Given the description of an element on the screen output the (x, y) to click on. 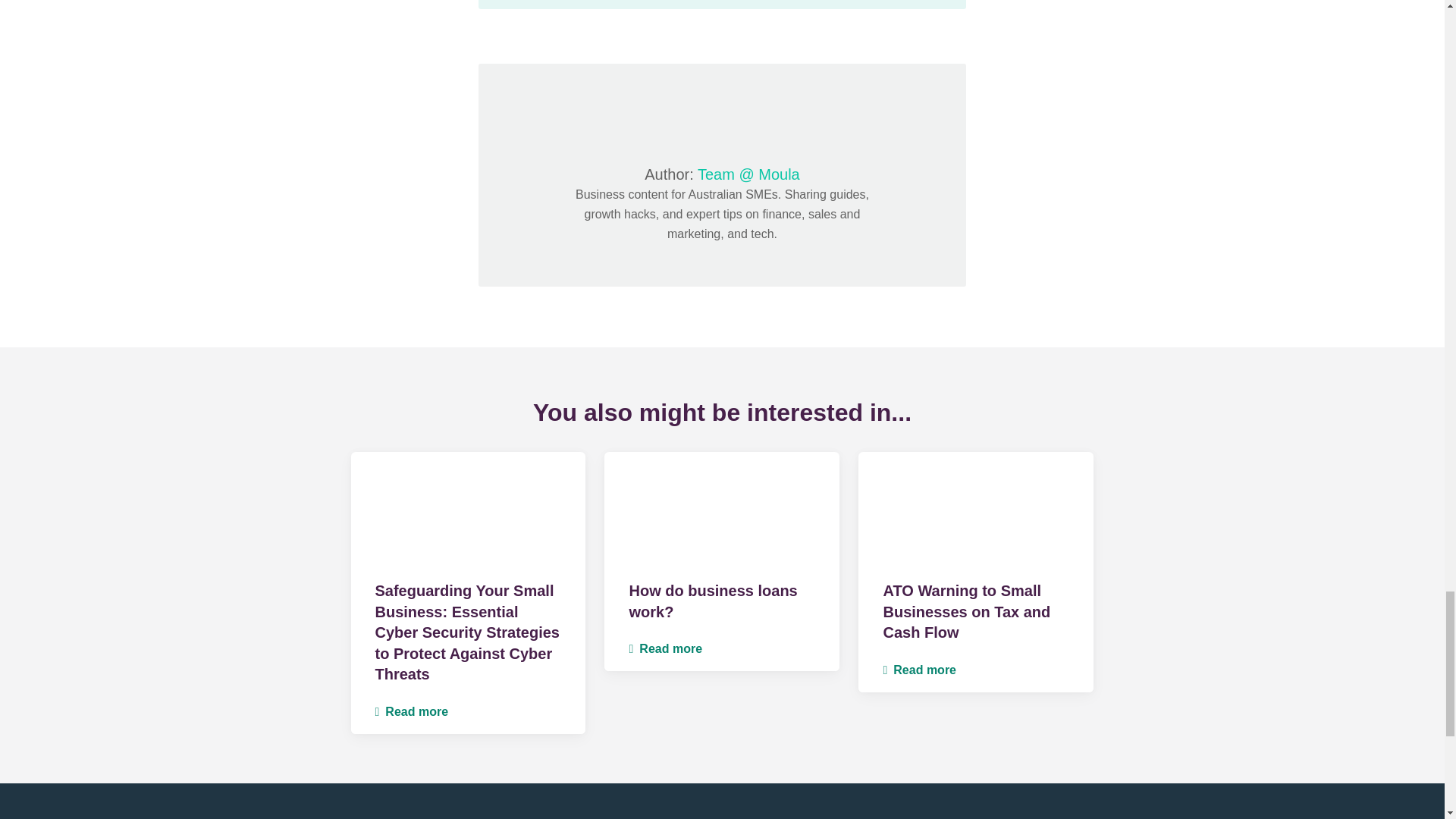
ATO Warning to Small Businesses on Tax and Cash Flow (965, 611)
Read more (411, 711)
Visit Author Page (748, 174)
Read more (919, 669)
How do business loans work? (712, 600)
How do business loans work? (722, 508)
ATO Warning to Small Businesses on Tax and Cash Flow (976, 508)
Visit Author Page (722, 113)
Read more (664, 648)
